Given the description of an element on the screen output the (x, y) to click on. 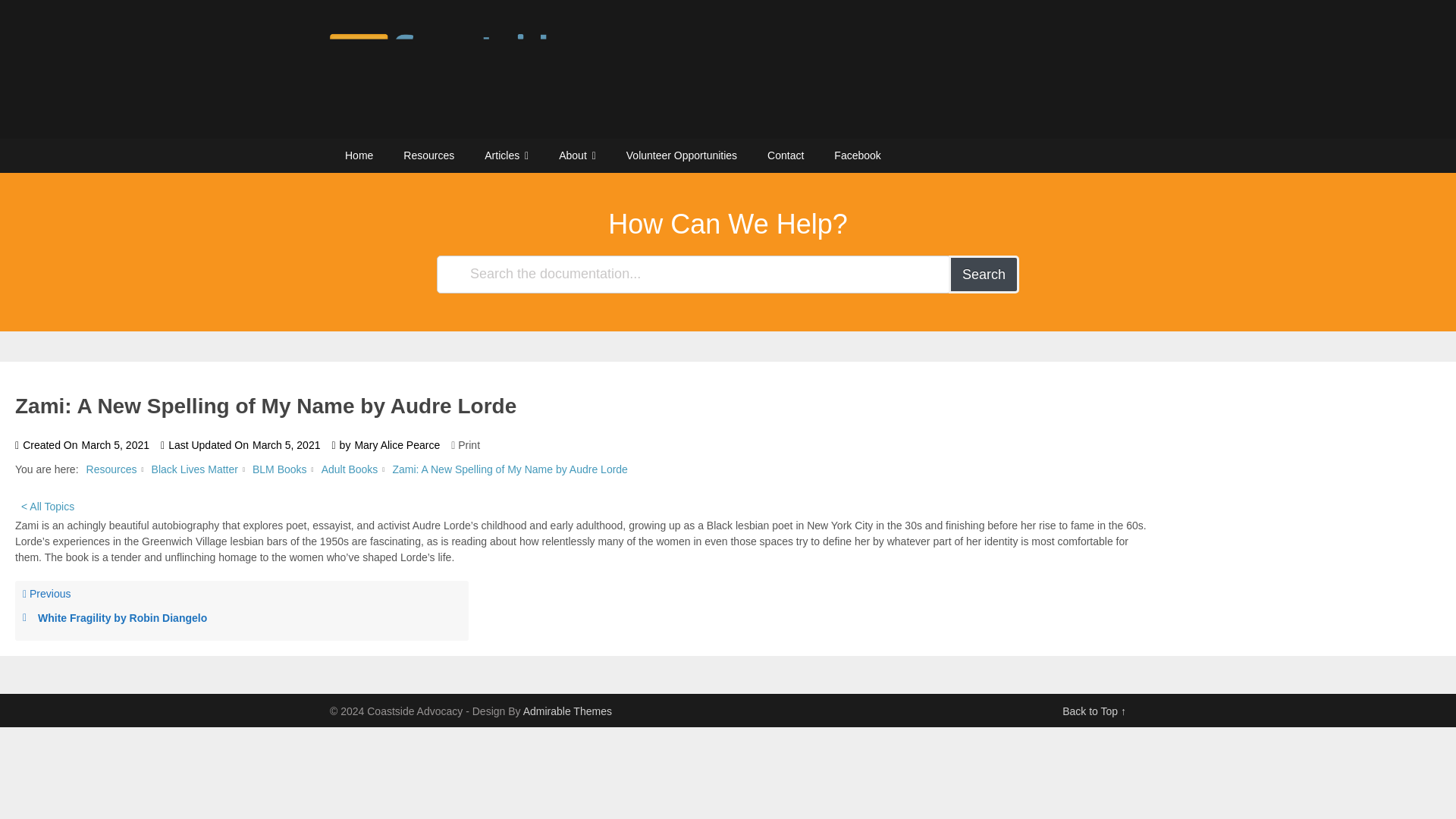
Black Lives Matter (194, 469)
Volunteer Opportunities (681, 155)
White Fragility by Robin Diangelo (242, 617)
Home (359, 155)
Resources (428, 155)
Facebook (856, 155)
BLM Books (279, 469)
Adult Books (349, 469)
Search (984, 274)
Articles (505, 155)
